Given the description of an element on the screen output the (x, y) to click on. 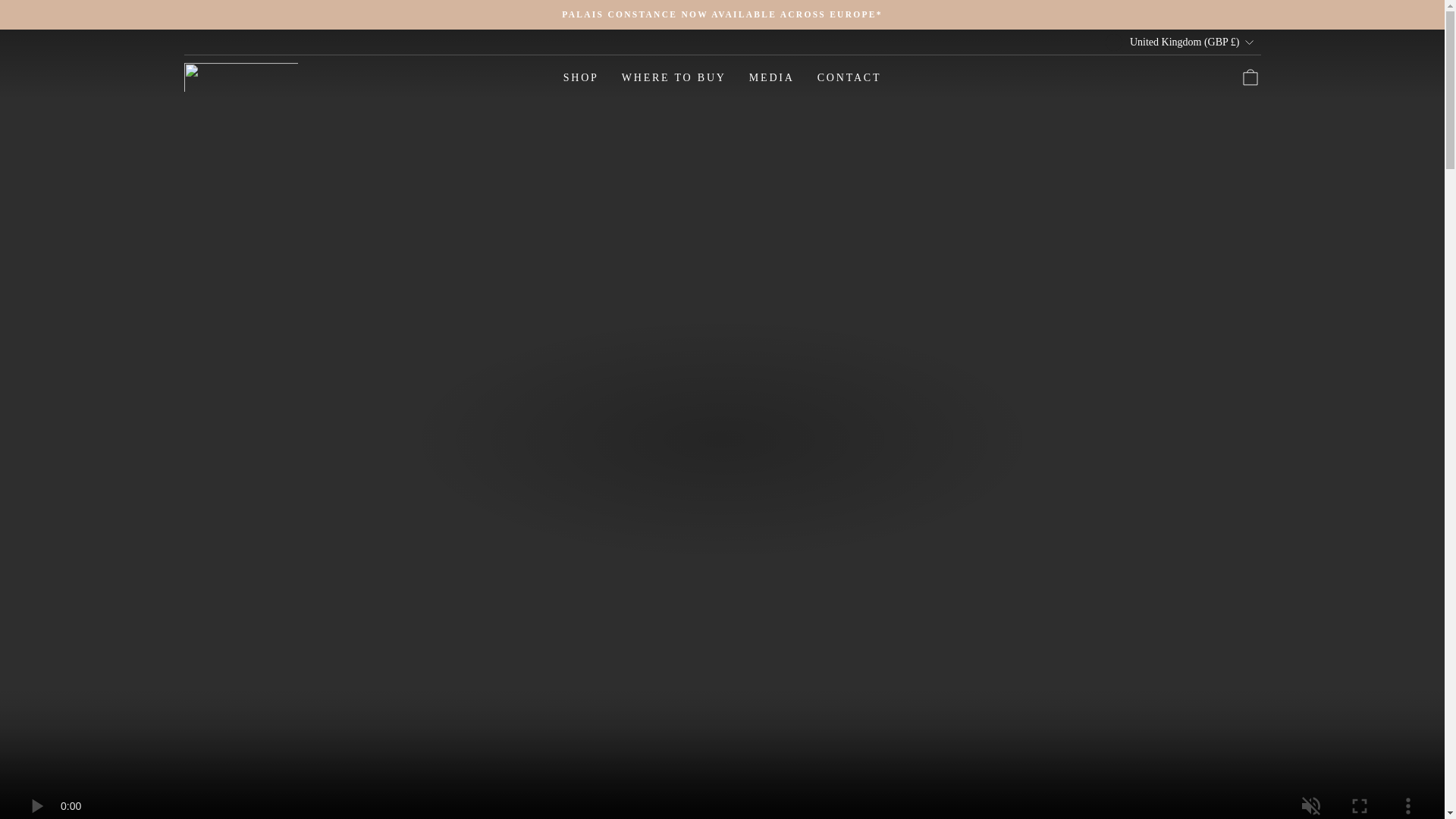
MEDIA (772, 76)
CONTACT (849, 76)
SHOP (580, 76)
WHERE TO BUY (674, 76)
CART (1249, 77)
